Given the description of an element on the screen output the (x, y) to click on. 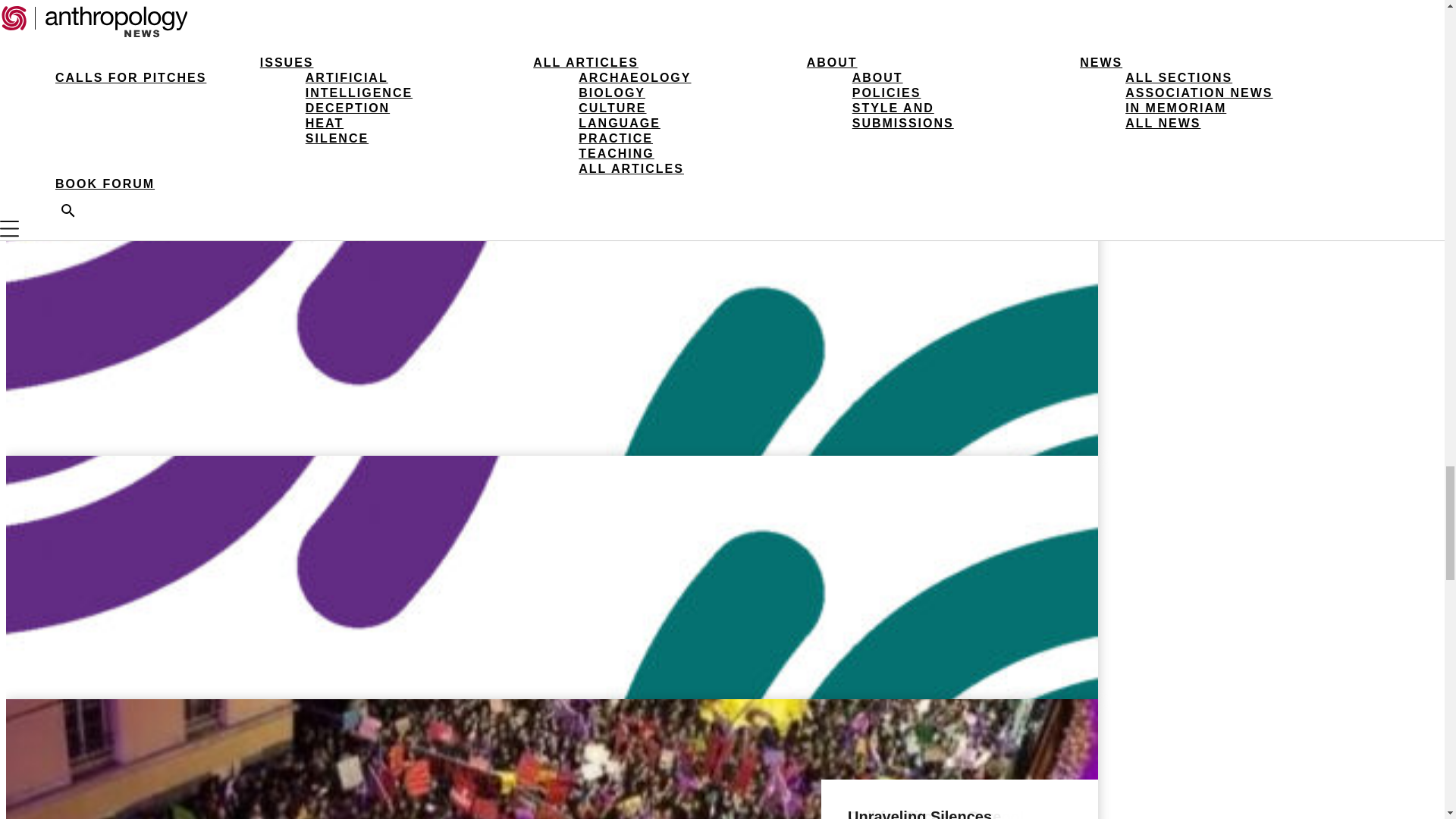
Unraveling Silences, Reimagining Intimacy (925, 813)
Call for Pitches: Care (924, 813)
AAA Virtual High School Internship Projects (935, 813)
